Given the description of an element on the screen output the (x, y) to click on. 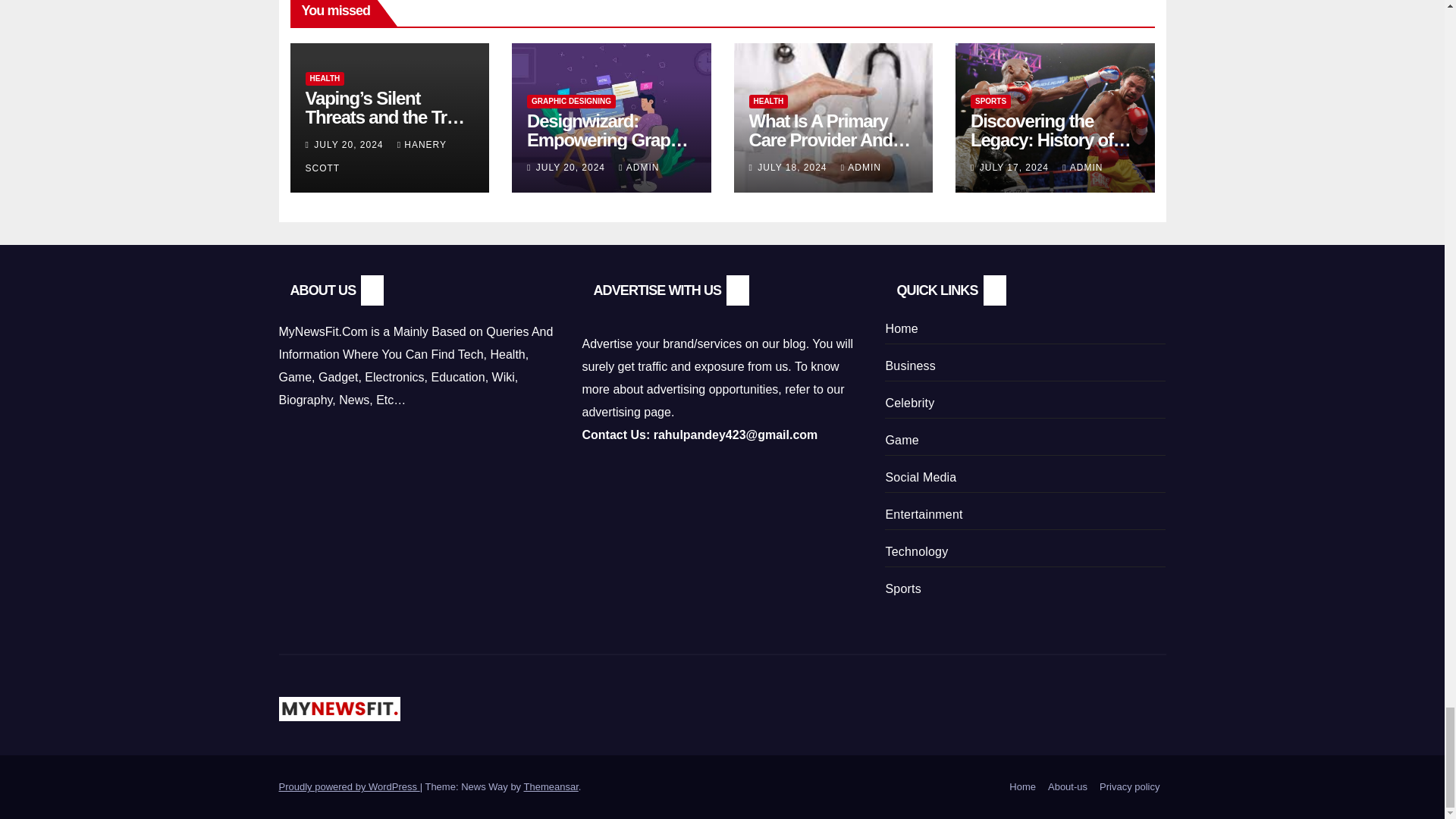
Permalink to: Discovering the Legacy: History of Boxing EN (1051, 139)
